Given the description of an element on the screen output the (x, y) to click on. 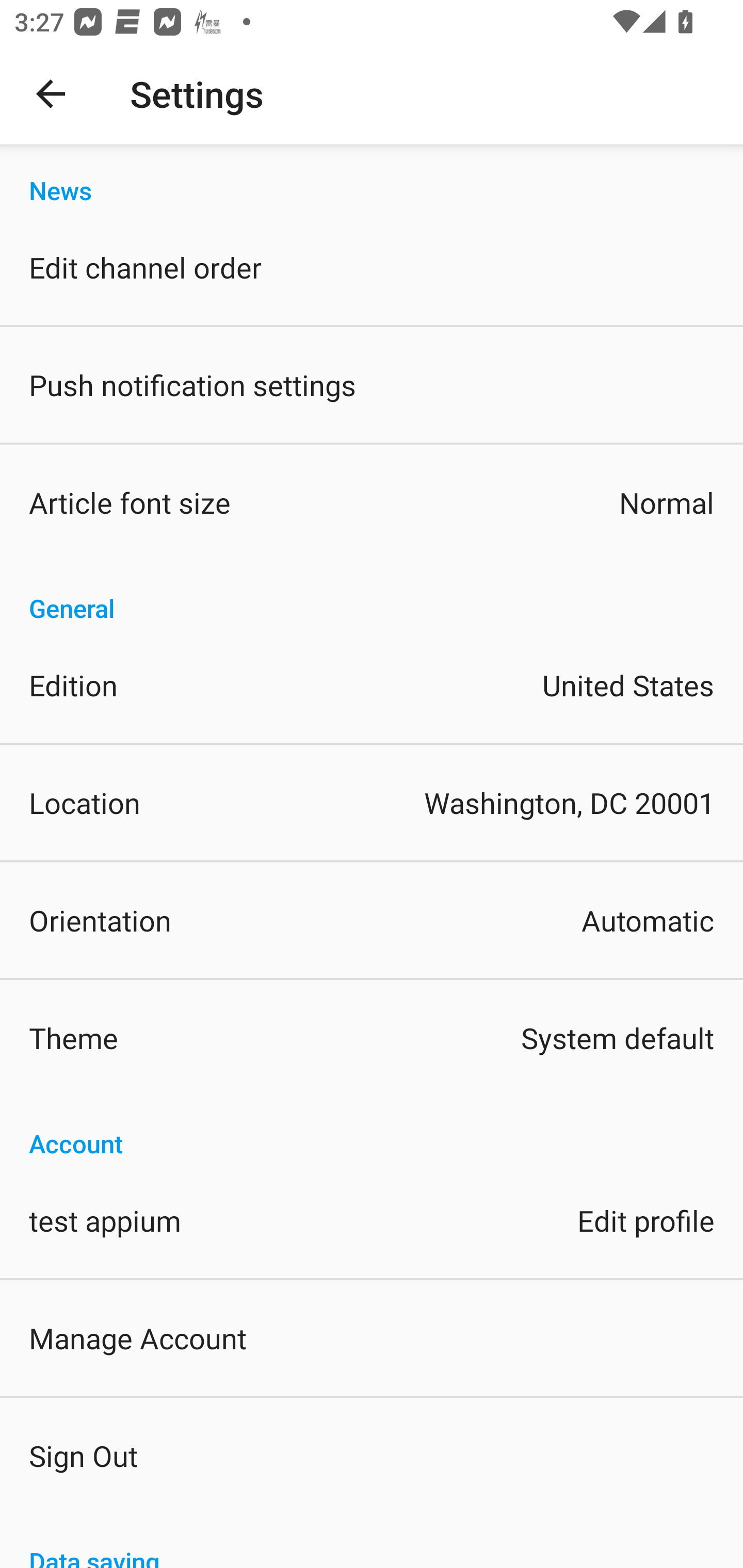
Navigate up (50, 93)
Edit channel order (371, 267)
Push notification settings (371, 384)
Article font size Normal (371, 502)
Edition United States (371, 685)
Location Washington, DC 20001 (371, 802)
Orientation Automatic (371, 920)
Theme System default (371, 1038)
test appium Edit profile (371, 1219)
Manage Account (371, 1337)
Sign Out (371, 1455)
